Given the description of an element on the screen output the (x, y) to click on. 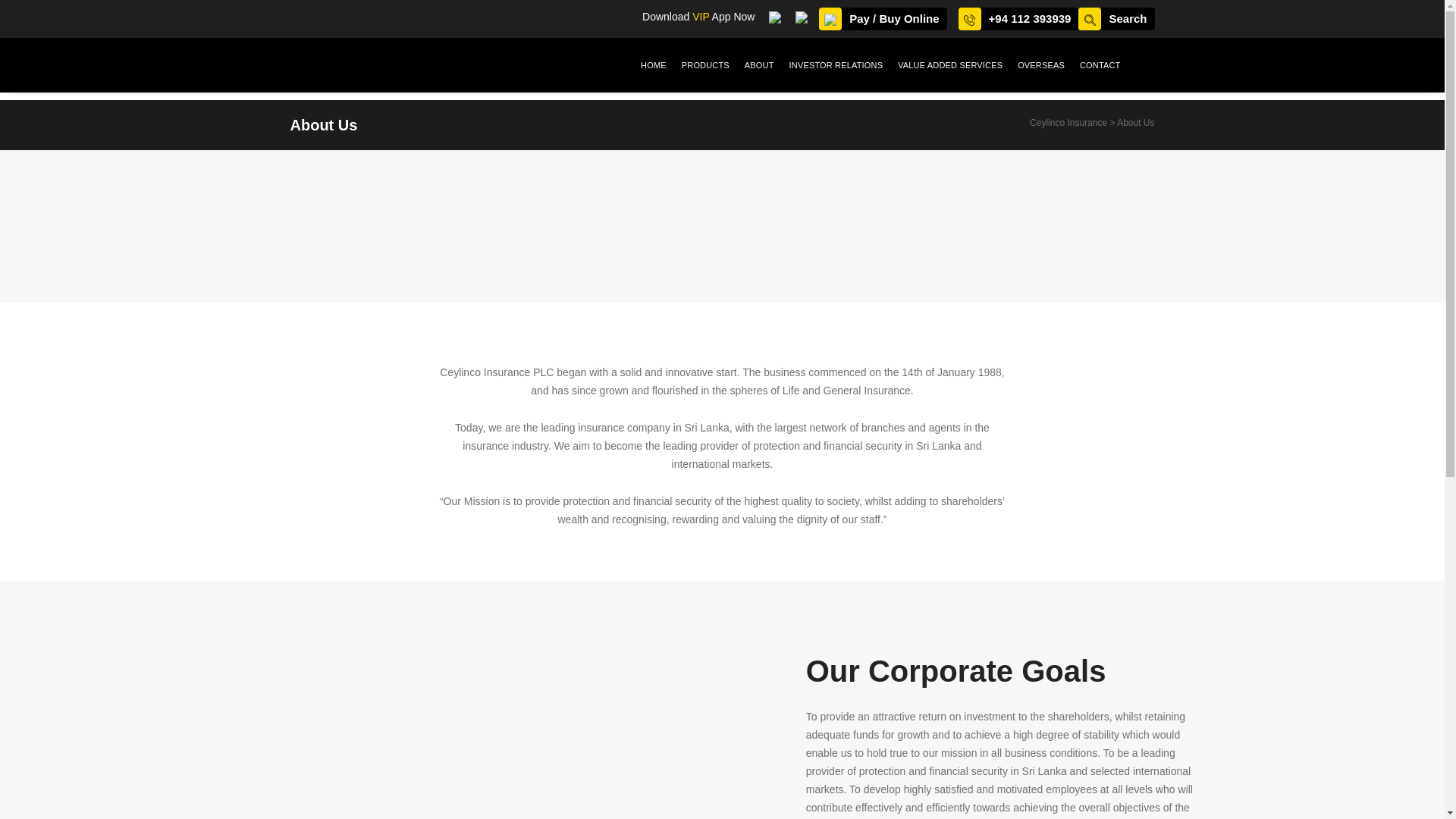
Pay Online (882, 18)
Go to Ceylinco Insurance. (1067, 122)
Download VIP App Now (711, 16)
Search (1116, 18)
INVESTOR RELATIONS (836, 64)
Search (1116, 18)
